Given the description of an element on the screen output the (x, y) to click on. 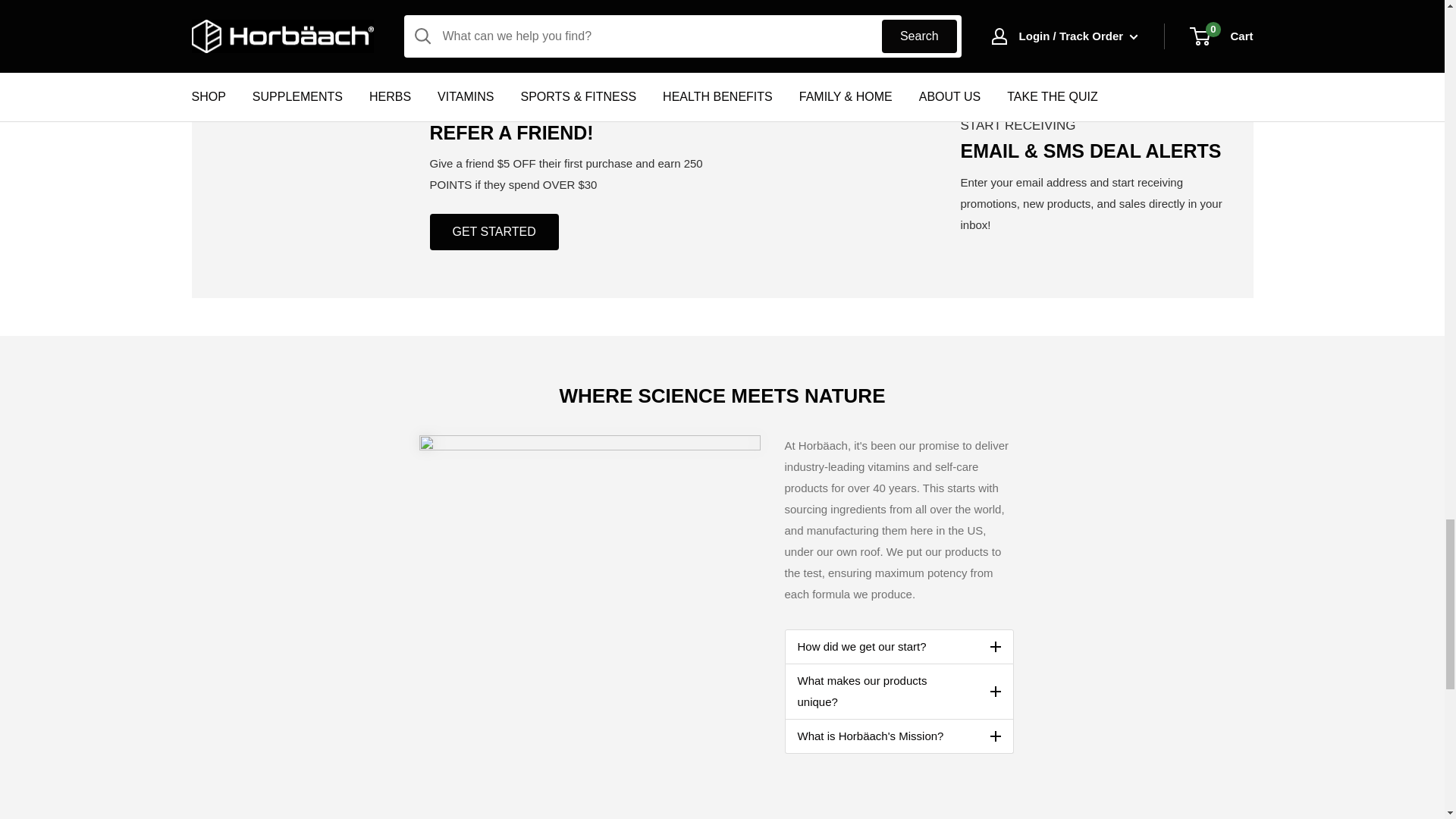
Get Started (493, 231)
